Given the description of an element on the screen output the (x, y) to click on. 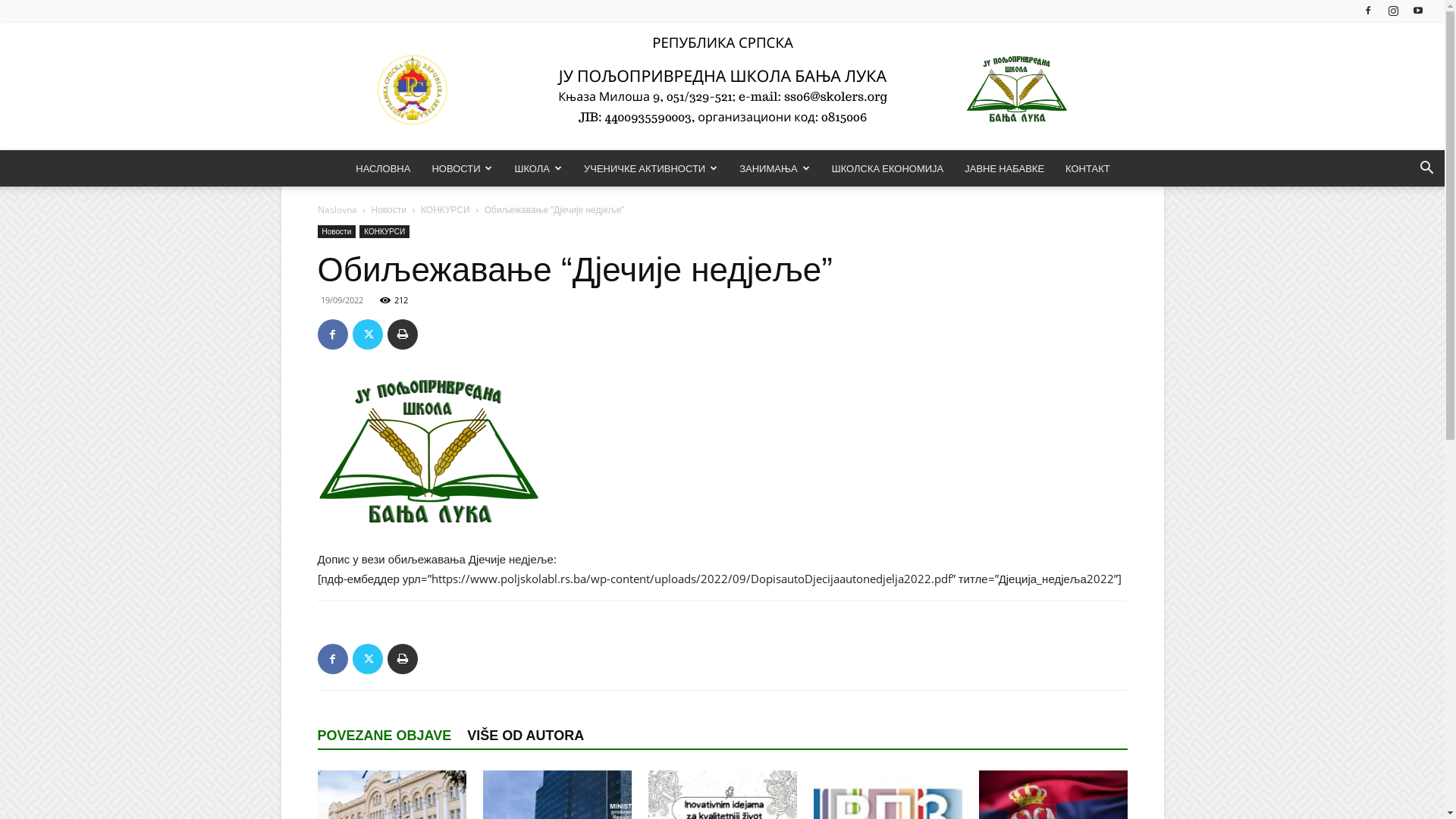
Naslovna Element type: text (336, 209)
Facebook Element type: hover (331, 658)
Instagram Element type: hover (1392, 10)
Facebook Element type: hover (1367, 10)
Facebook Element type: hover (331, 334)
Youtube Element type: hover (1417, 10)
POVEZANE OBJAVE Element type: text (391, 735)
Twitter Element type: hover (366, 658)
bottomFacebookLike Element type: hover (430, 625)
Twitter Element type: hover (366, 334)
Pretraga Element type: text (1391, 228)
NOVI-logo-skola Element type: hover (426, 453)
